Given the description of an element on the screen output the (x, y) to click on. 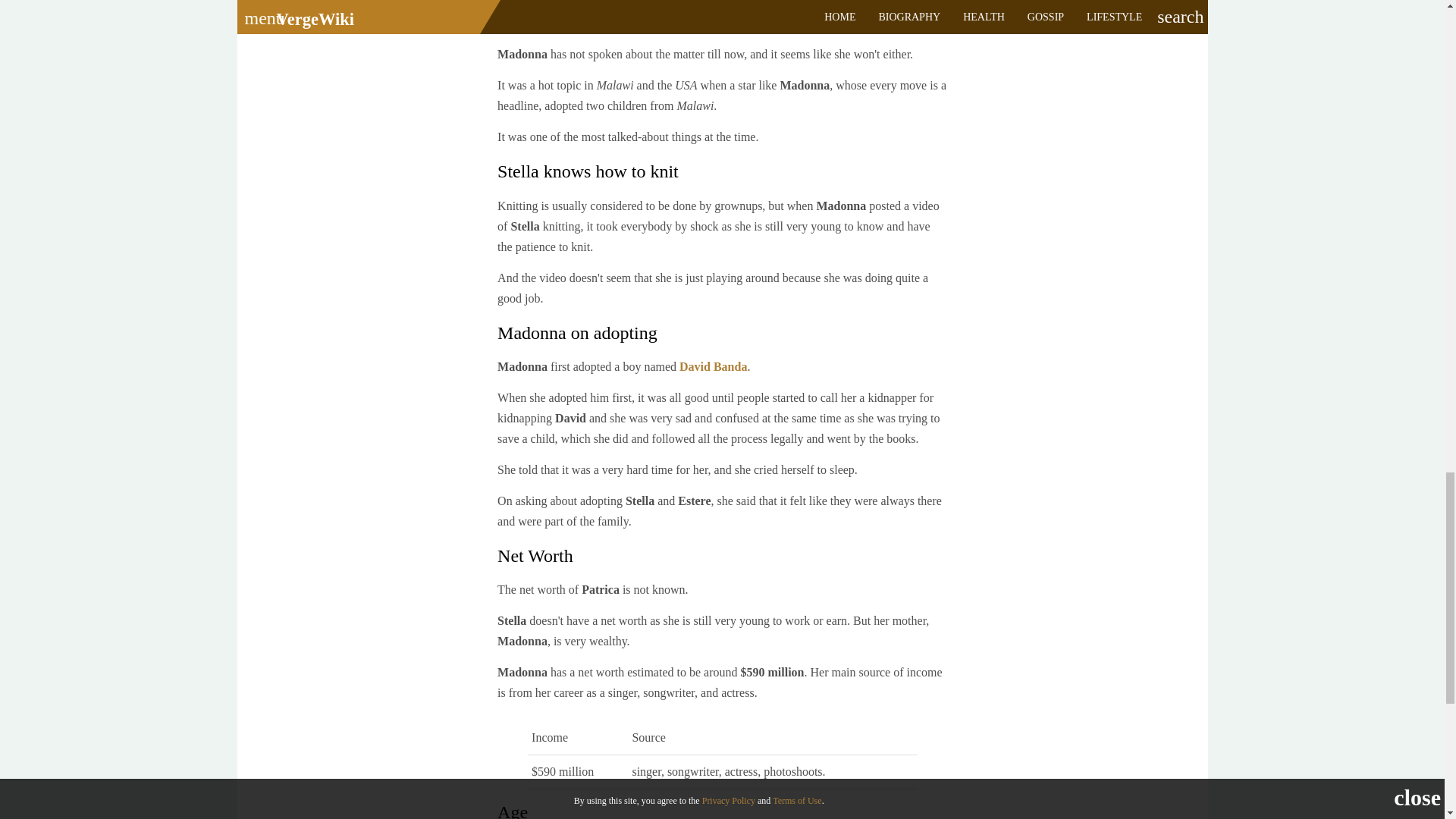
David Banda (712, 366)
